Given the description of an element on the screen output the (x, y) to click on. 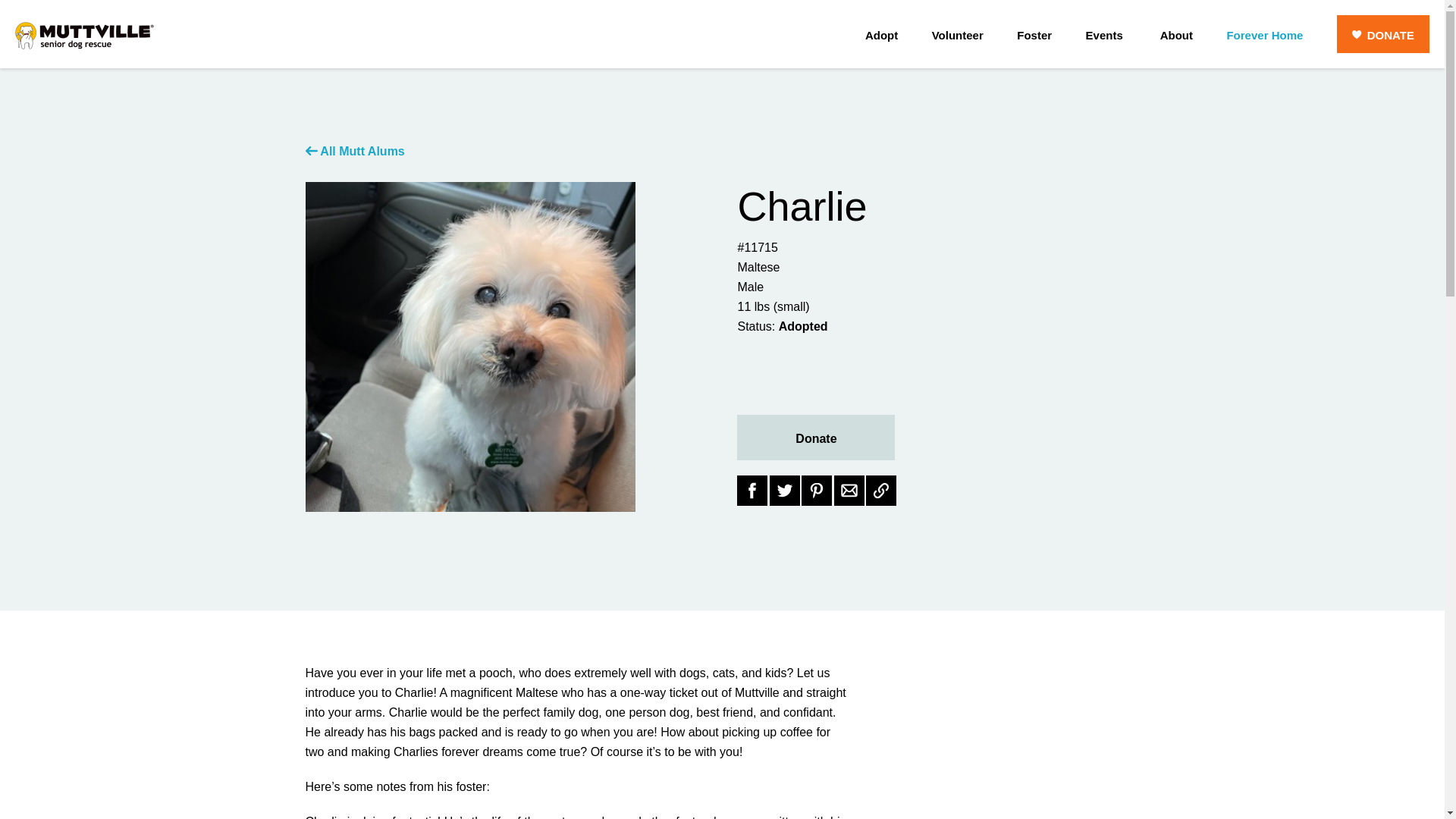
Foster (1034, 34)
Email to a friend (849, 490)
Forever Home (1264, 34)
Foster (1034, 34)
About (1176, 34)
Events (1104, 34)
Share on Pinterest (816, 490)
Share on Twitter (784, 490)
Forever Home (1264, 34)
Adopt (881, 34)
